Given the description of an element on the screen output the (x, y) to click on. 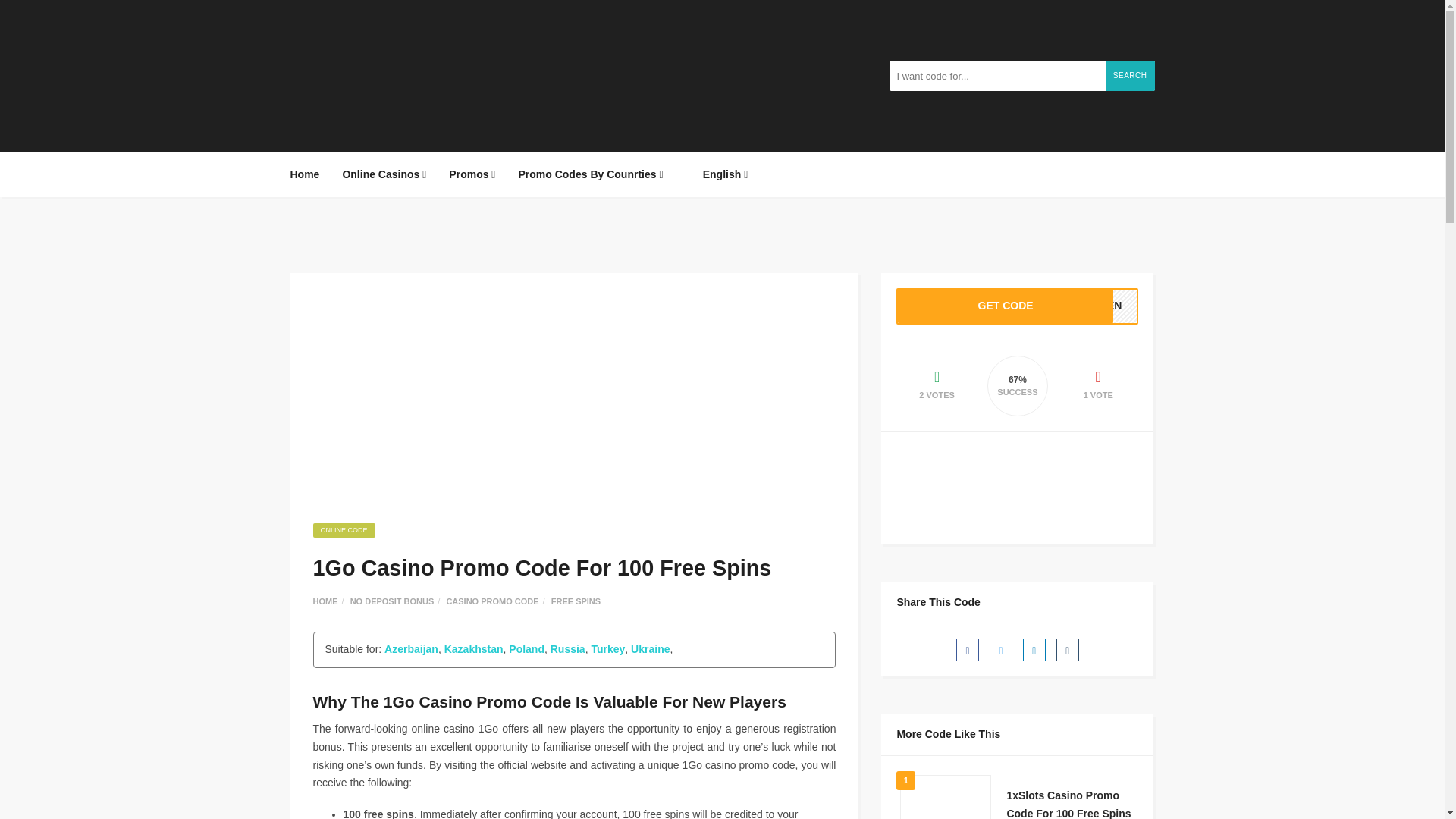
Promos (472, 174)
English (717, 174)
SEARCH (1129, 75)
FREE SPINS (575, 601)
Ukraine (649, 648)
Turkey (607, 648)
Online Casinos (384, 174)
Home (309, 174)
Russia (567, 648)
Poland (526, 648)
